Given the description of an element on the screen output the (x, y) to click on. 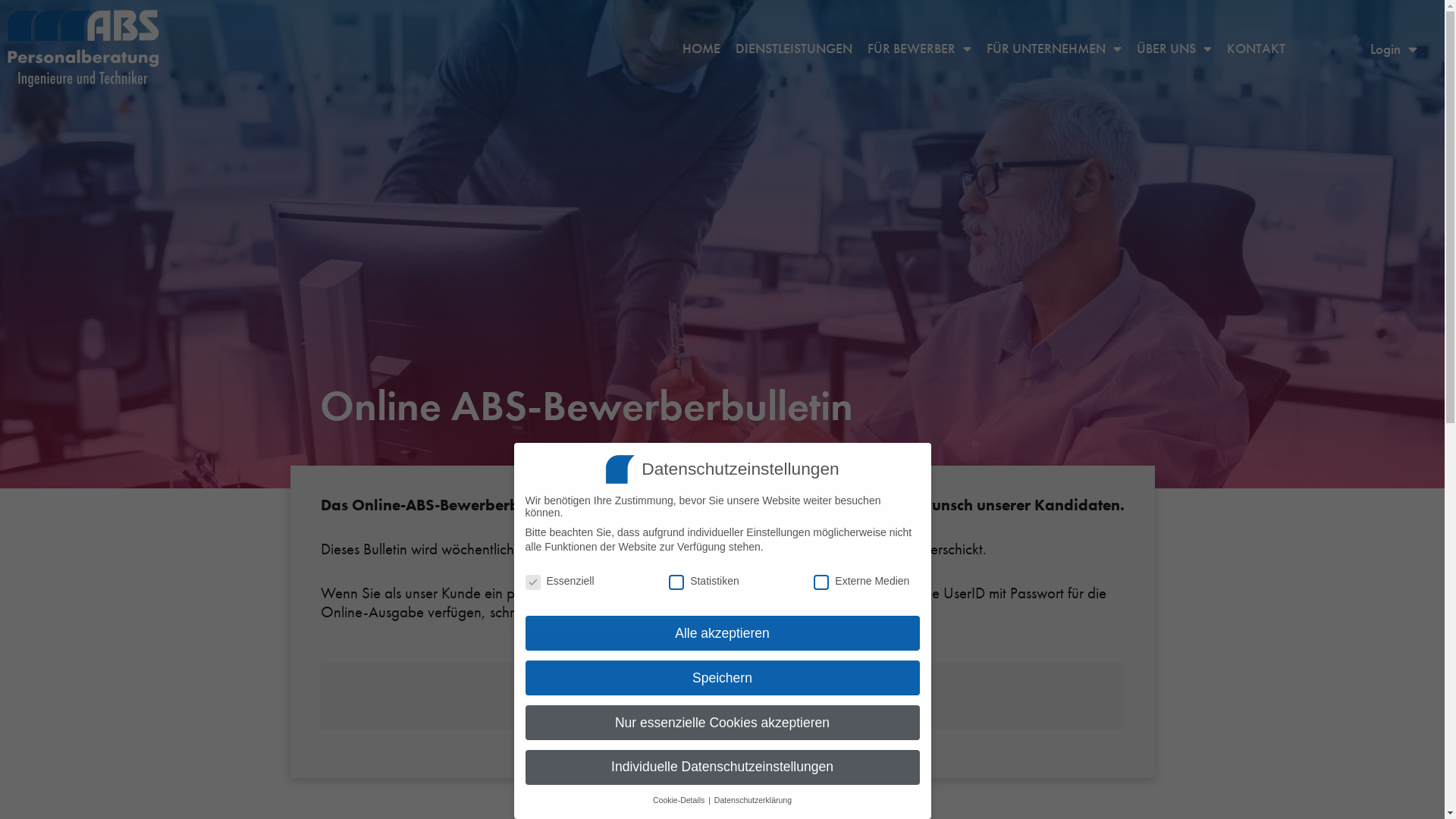
E-Mail Element type: text (726, 611)
KONTAKT Element type: text (1255, 48)
Alle akzeptieren Element type: text (721, 632)
Speichern Element type: text (721, 677)
HOME Element type: text (701, 48)
Login Element type: text (1393, 48)
Individuelle Datenschutzeinstellungen Element type: text (721, 766)
DIENSTLEISTUNGEN Element type: text (793, 48)
Cookie-Details Element type: text (679, 799)
Nur essenzielle Cookies akzeptieren Element type: text (721, 722)
Inhalt laden Element type: text (721, 707)
